Given the description of an element on the screen output the (x, y) to click on. 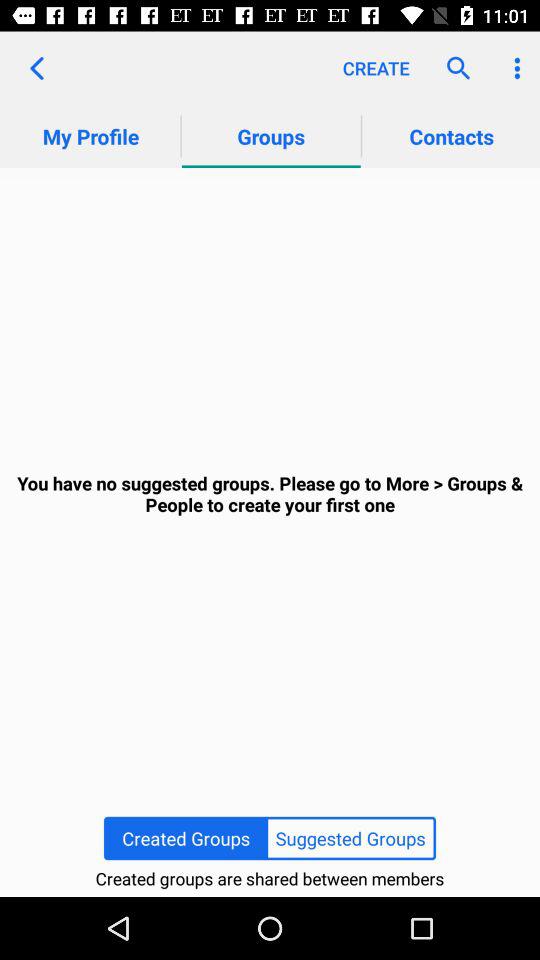
click item below my profile item (270, 494)
